Given the description of an element on the screen output the (x, y) to click on. 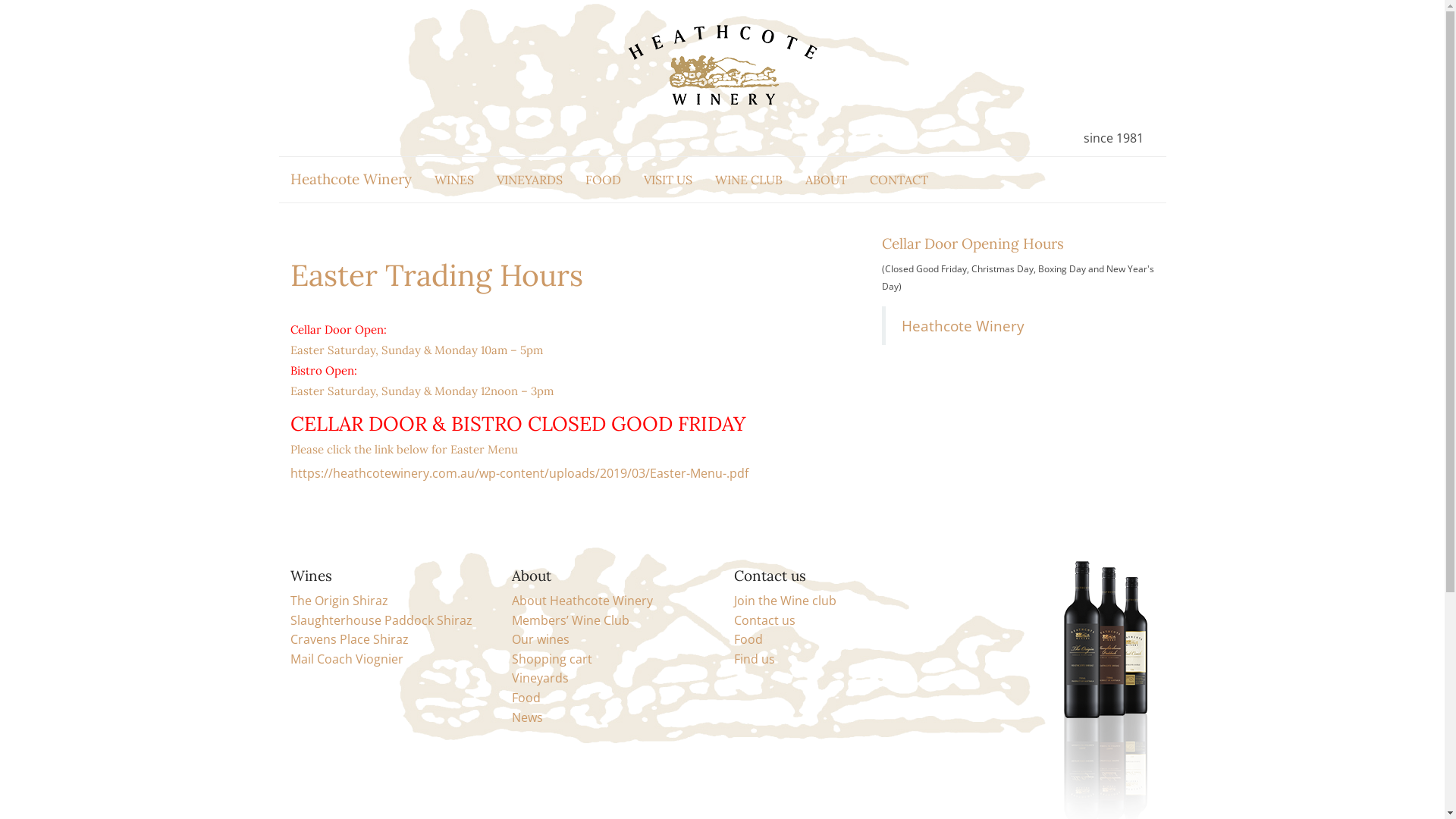
About Heathcote Winery Element type: text (581, 600)
The Origin Shiraz Element type: text (338, 600)
Food Element type: text (525, 697)
News Element type: text (526, 717)
Cravens Place Shiraz Element type: text (348, 638)
Heathcote Winery Element type: text (351, 179)
VINEYARDS Element type: text (529, 179)
CONTACT Element type: text (898, 179)
Food Element type: text (748, 638)
Find us Element type: text (754, 658)
VISIT US Element type: text (667, 179)
Heathcote Winery Element type: text (961, 325)
WINES Element type: text (454, 179)
FOOD Element type: text (602, 179)
ABOUT Element type: text (825, 179)
Our wines Element type: text (540, 638)
Join the Wine club Element type: text (785, 600)
Mail Coach Viognier Element type: text (345, 658)
Slaughterhouse Paddock Shiraz Element type: text (380, 619)
WINE CLUB Element type: text (748, 179)
Shopping cart Element type: text (551, 658)
Contact us Element type: text (764, 619)
Vineyards Element type: text (539, 677)
